Given the description of an element on the screen output the (x, y) to click on. 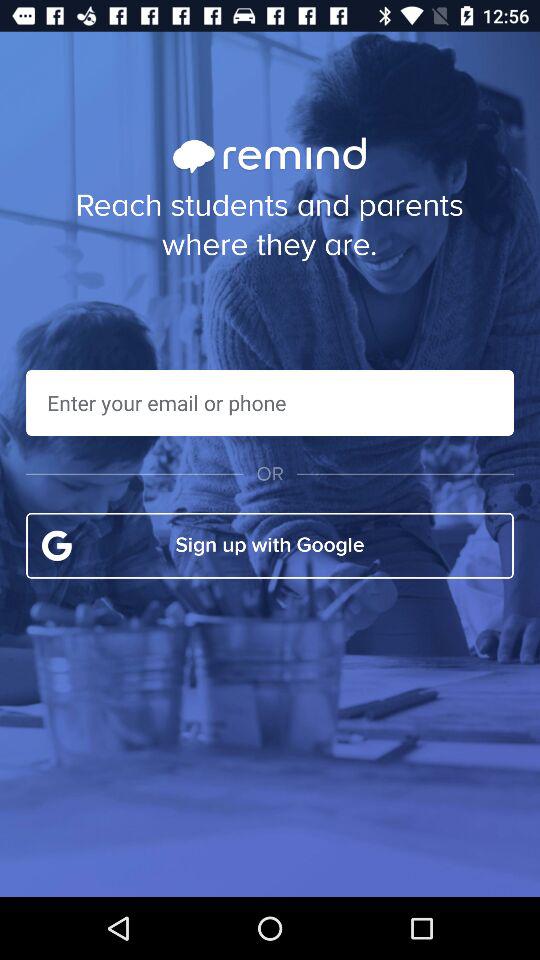
enter text (269, 402)
